Given the description of an element on the screen output the (x, y) to click on. 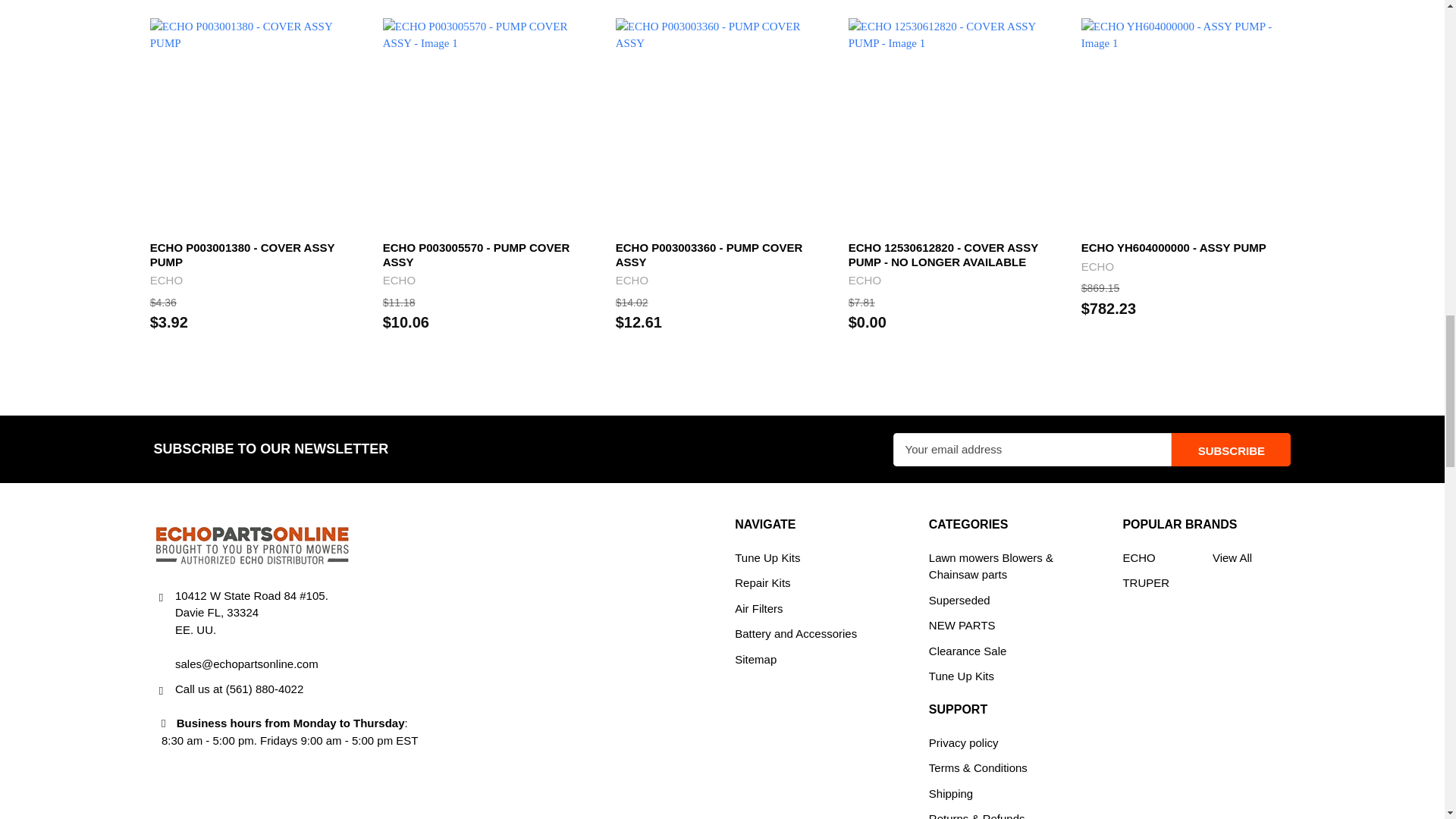
ECHO YH604000000 - ASSY PUMP - Image 1 (1188, 125)
ECHO P003005570 - PUMP COVER ASSY - Image 1 (489, 125)
ECHO P003003360 - PUMP COVER ASSY (722, 125)
Subscribe (1231, 449)
ECHO 12530612820 - COVER ASSY PUMP - Image 1 (955, 125)
ECHO PARTS ONLINE (251, 543)
ECHO P003001380 - COVER ASSY PUMP (257, 125)
